Given the description of an element on the screen output the (x, y) to click on. 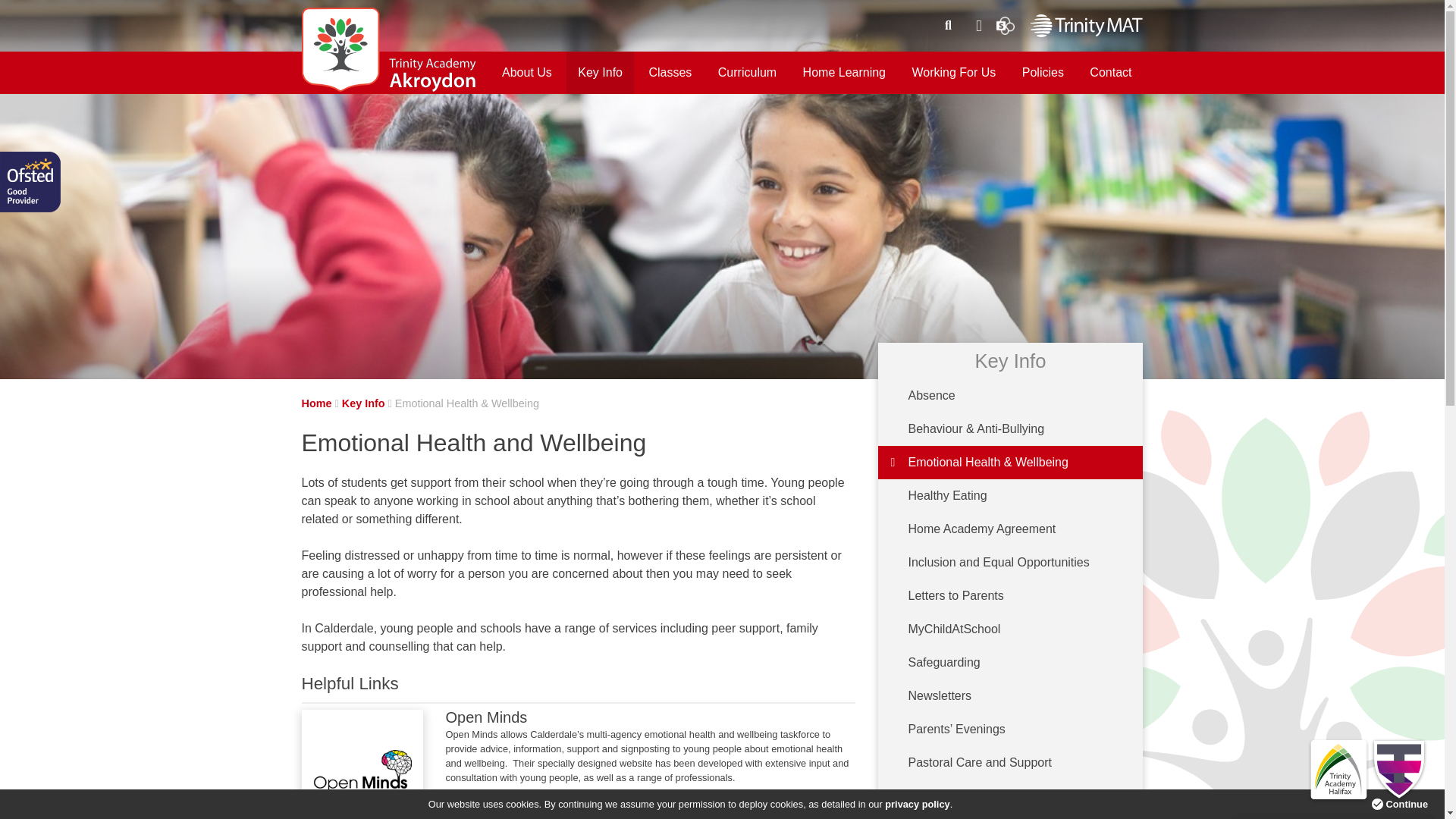
privacy policy (917, 803)
Classes (670, 72)
SharePoint (1004, 24)
Key Info (599, 72)
Privacy Policy (917, 803)
Visit Trinity MAT (1085, 24)
About Us (526, 72)
Continue (1403, 803)
